Given the description of an element on the screen output the (x, y) to click on. 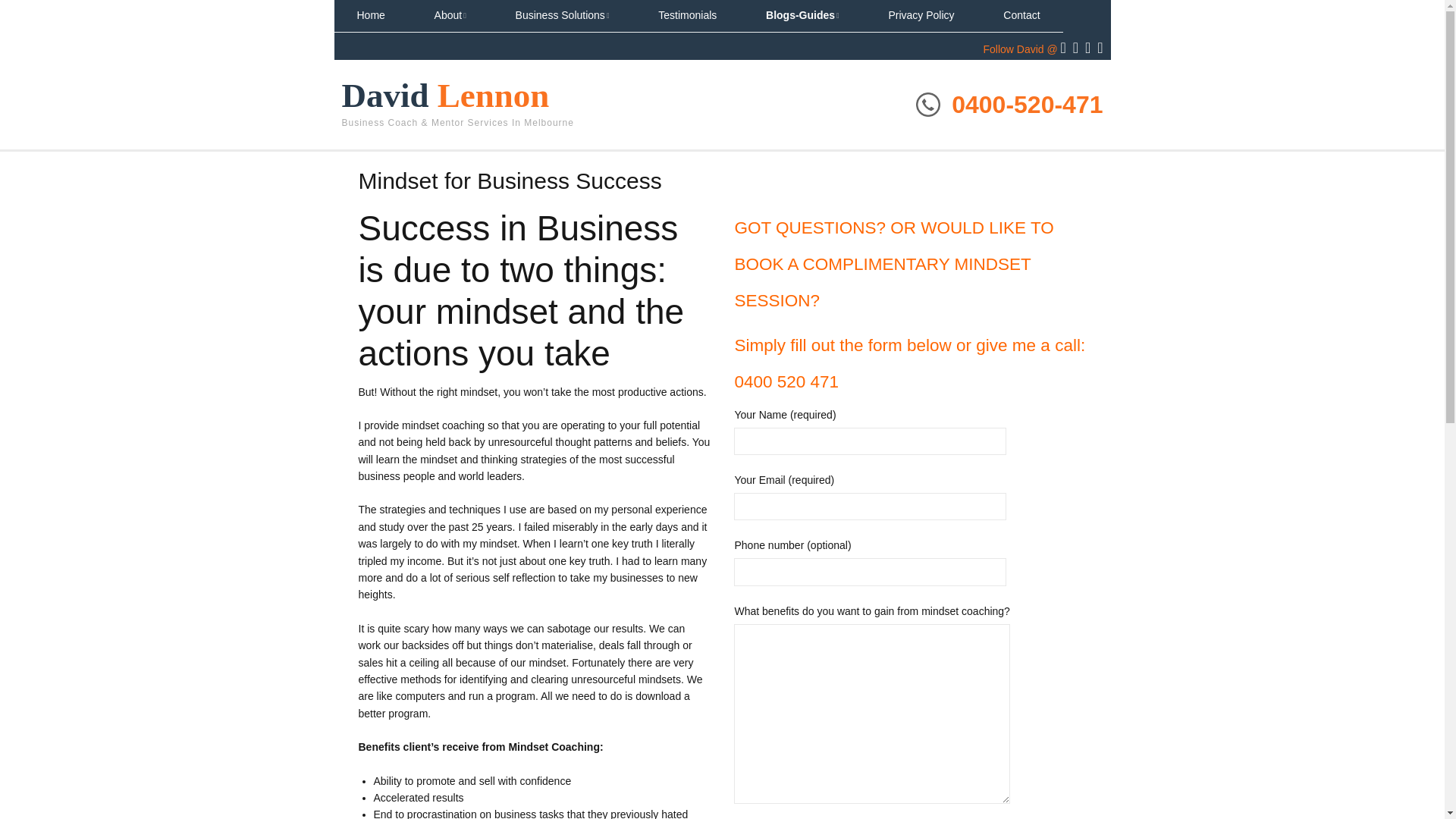
David Lennon (444, 95)
0400-520-471 (1027, 103)
Testimonials (686, 15)
Business Solutions (562, 15)
Privacy Policy (920, 15)
Contact (1020, 15)
About (450, 15)
Home (370, 15)
Blogs-Guides (801, 15)
